Given the description of an element on the screen output the (x, y) to click on. 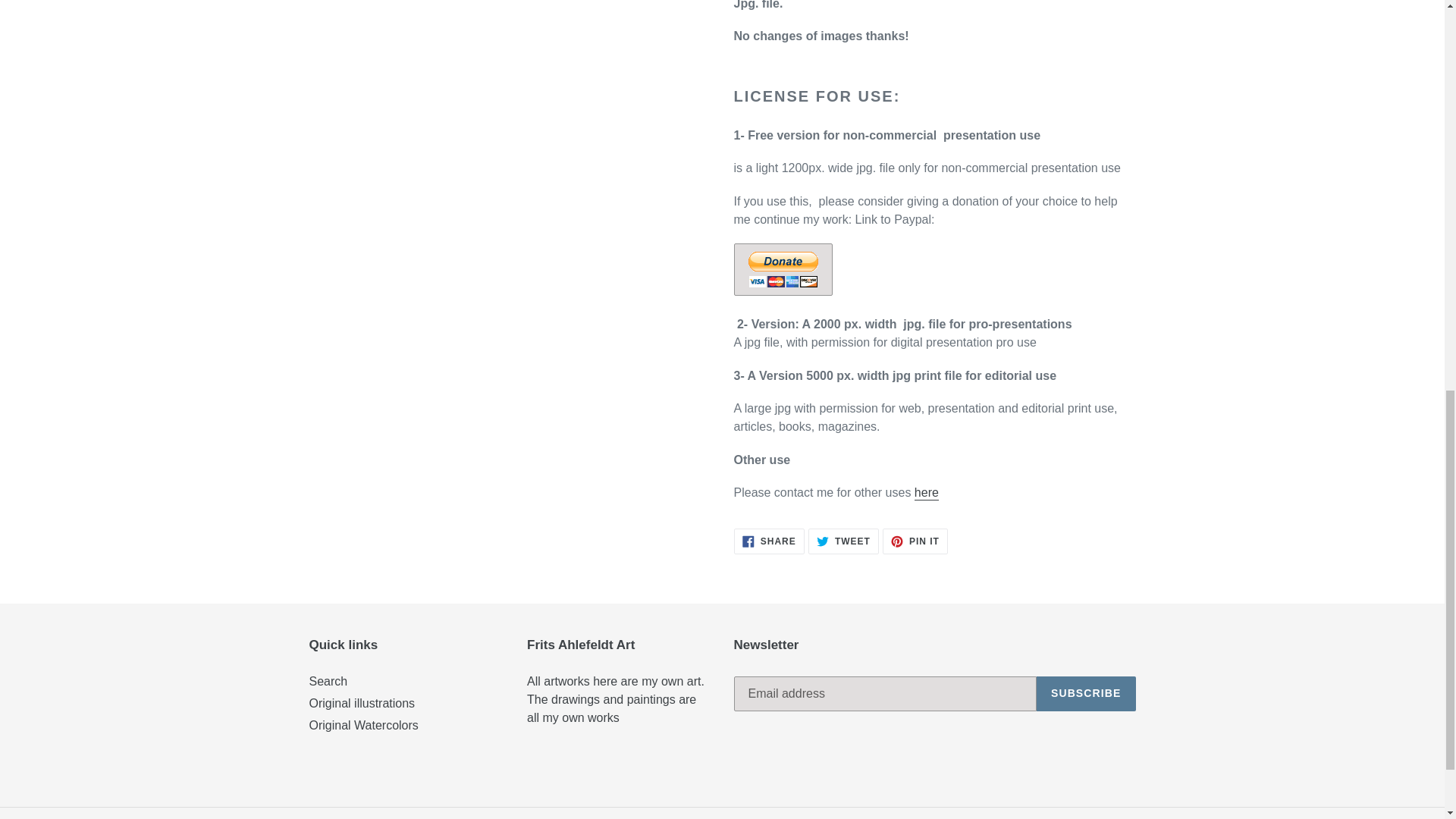
Search (327, 680)
PayPal - The safer, easier way to pay online! (782, 269)
SUBSCRIBE (843, 541)
Contact form (914, 541)
here (1085, 693)
Original illustrations (926, 493)
Original Watercolors (926, 493)
